Given the description of an element on the screen output the (x, y) to click on. 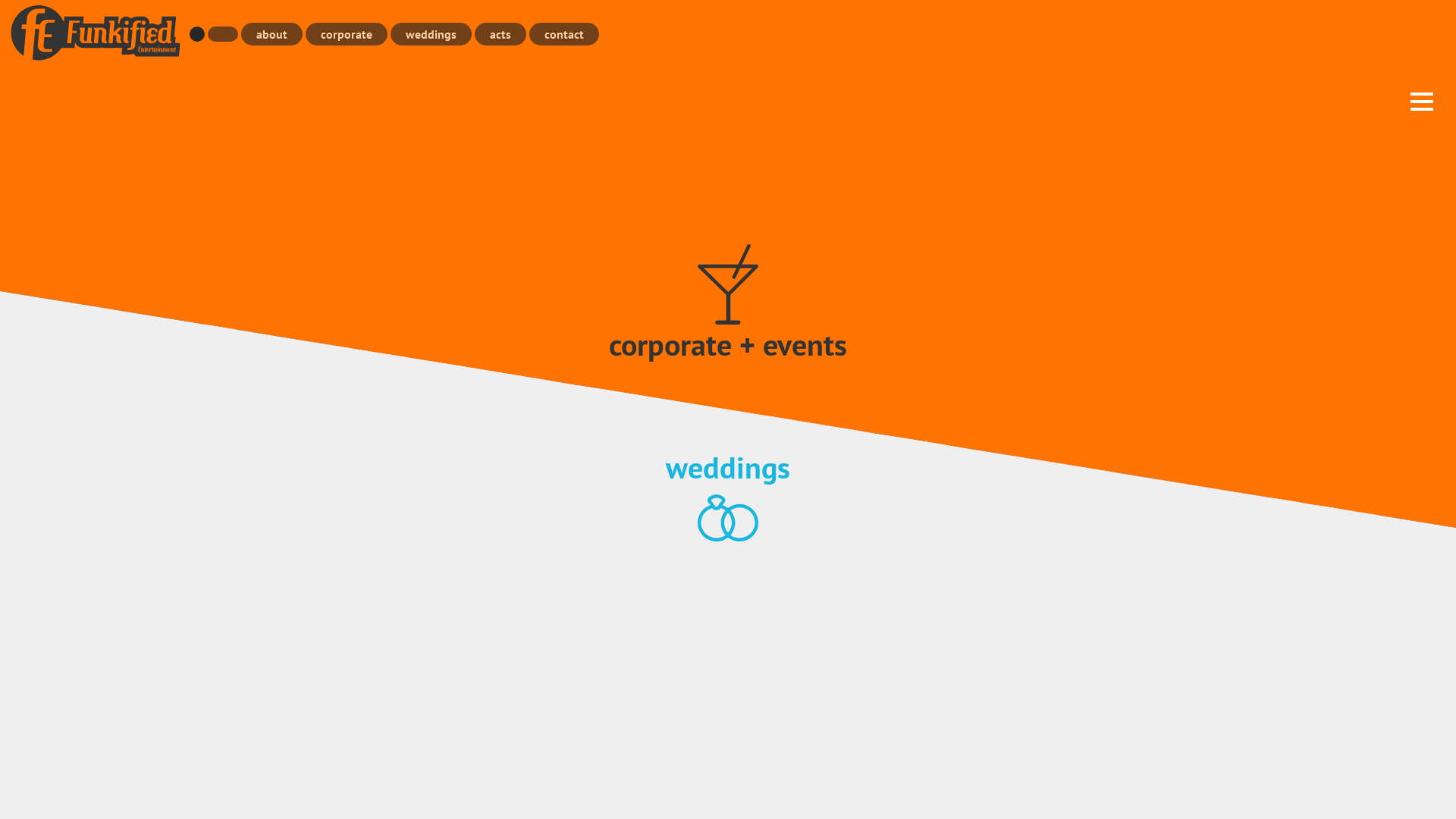
toggle menu Element type: text (1421, 99)
corporate Element type: text (346, 33)
weddings Element type: text (430, 33)
about Element type: text (271, 33)
acts Element type: text (500, 33)
contact Element type: text (564, 33)
